Given the description of an element on the screen output the (x, y) to click on. 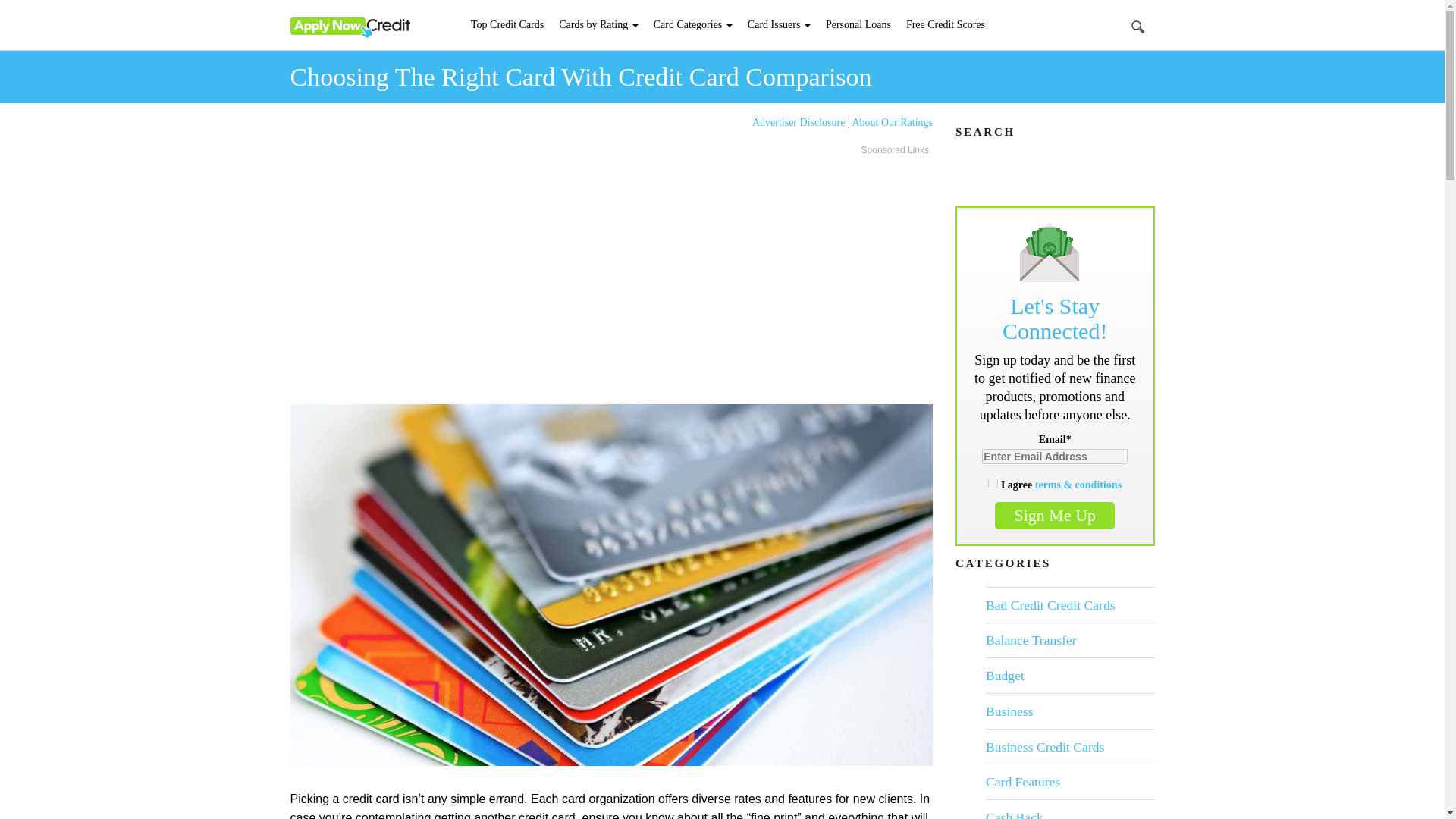
Cards by Rating (598, 24)
Sign Me Up (1054, 515)
Personal Loans (858, 24)
Top Credit Cards (507, 24)
true (992, 483)
Search: (1138, 26)
Apply Now Credit (349, 27)
Card Categories (692, 24)
Free Credit Scores (945, 24)
Card Issuers (778, 24)
